Given the description of an element on the screen output the (x, y) to click on. 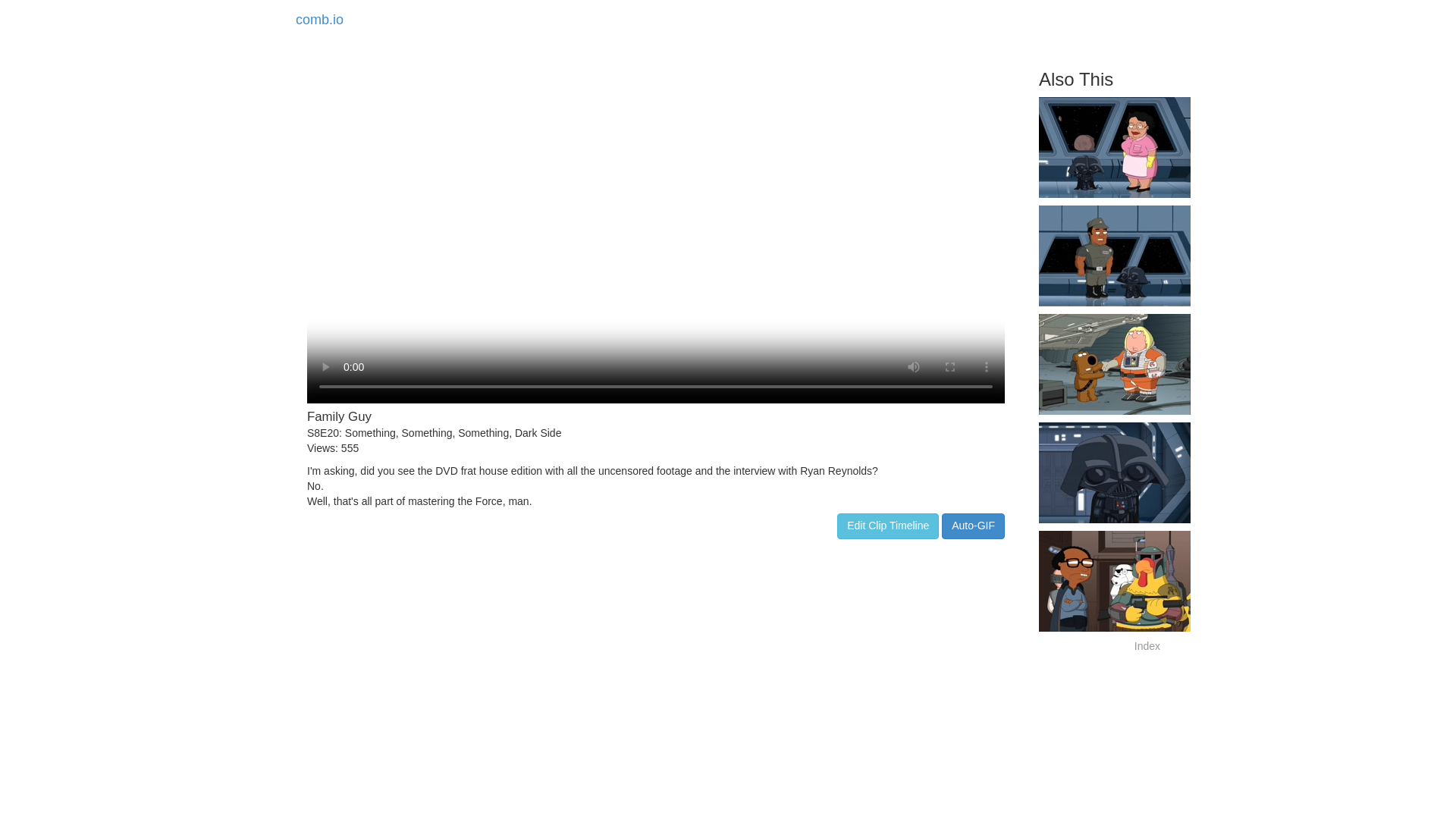
Auto-GIF (973, 525)
comb.io (319, 19)
Edit Clip Timeline (888, 525)
